Given the description of an element on the screen output the (x, y) to click on. 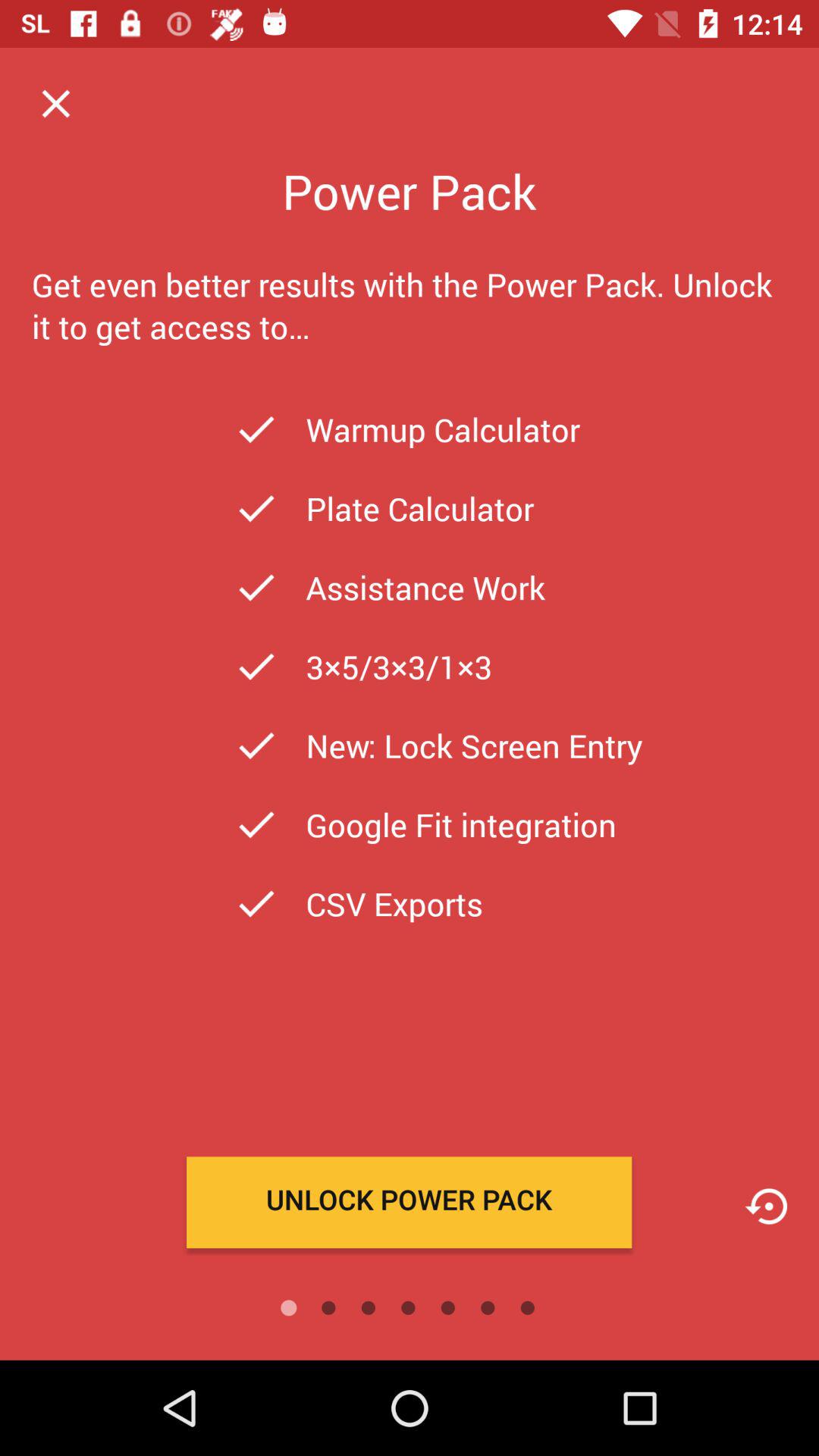
stronglifts 5x5 weight lifting gym workout log (766, 1206)
